Given the description of an element on the screen output the (x, y) to click on. 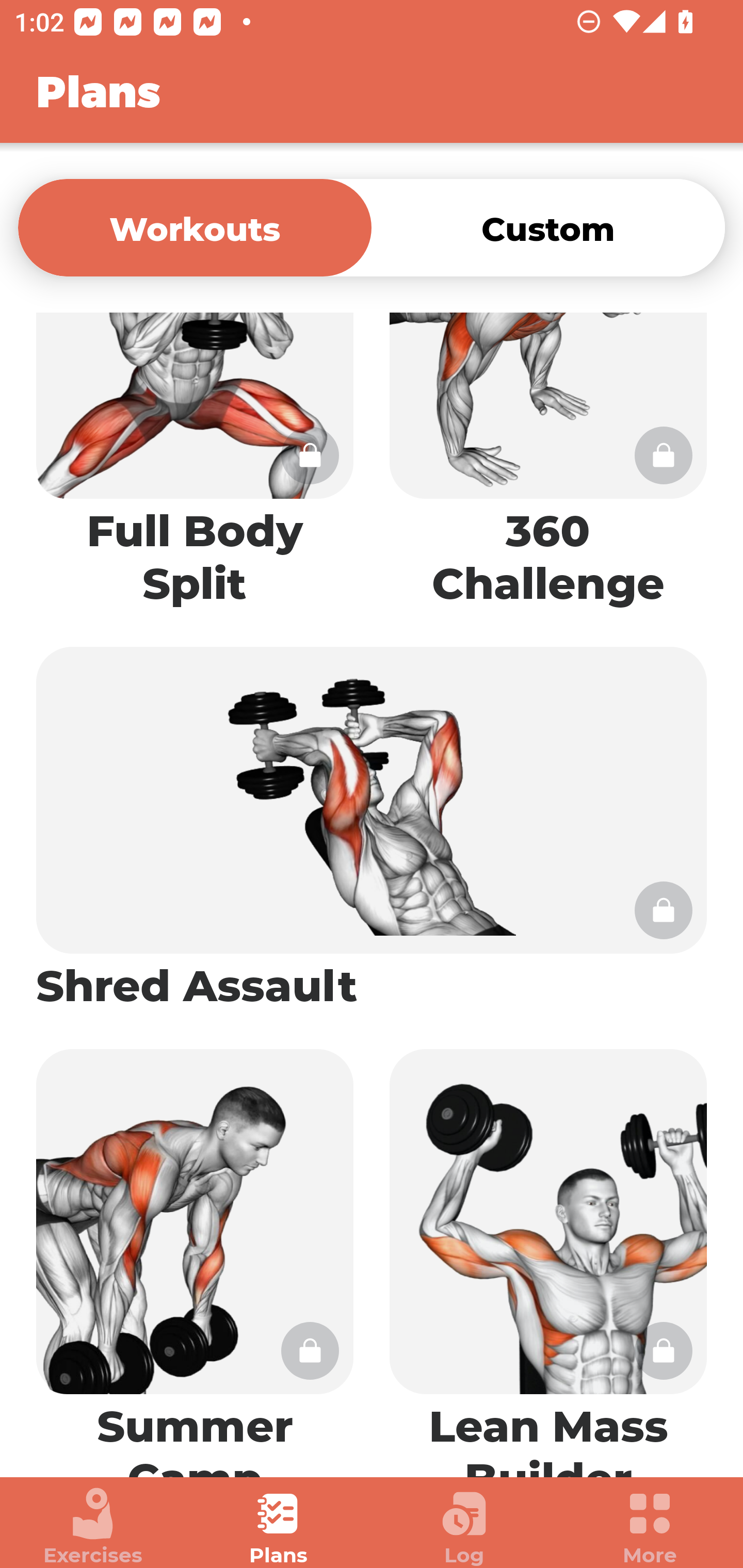
Workouts (194, 226)
Custom (548, 226)
Full Body Split (194, 470)
360 Challenge (548, 470)
Shred Assault (371, 829)
Summer Camp (194, 1254)
Lean Mass Builder (548, 1254)
Exercises (92, 1527)
Plans (278, 1527)
Log (464, 1527)
More (650, 1527)
